Given the description of an element on the screen output the (x, y) to click on. 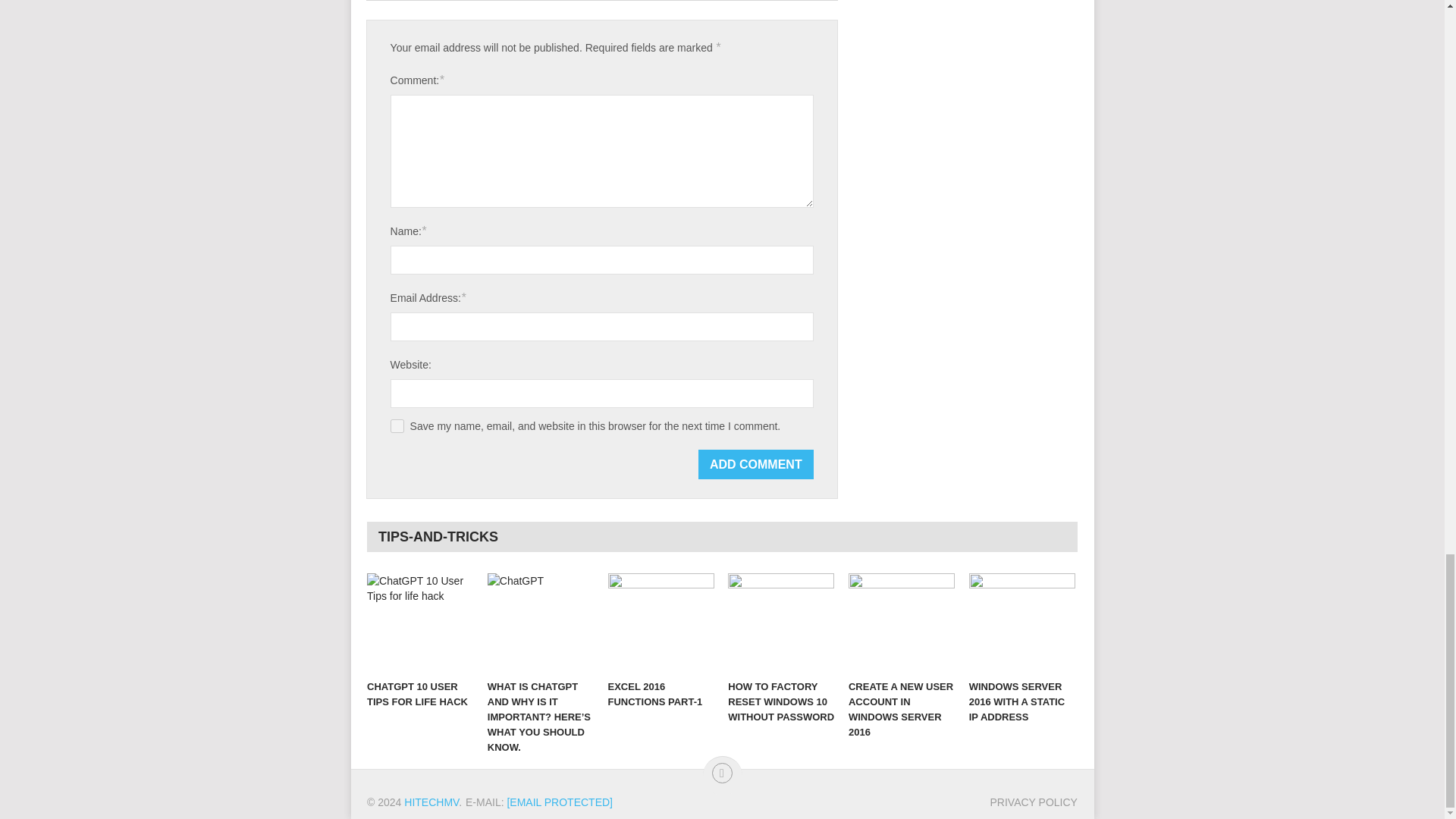
yes (397, 426)
Add Comment (755, 464)
